Given the description of an element on the screen output the (x, y) to click on. 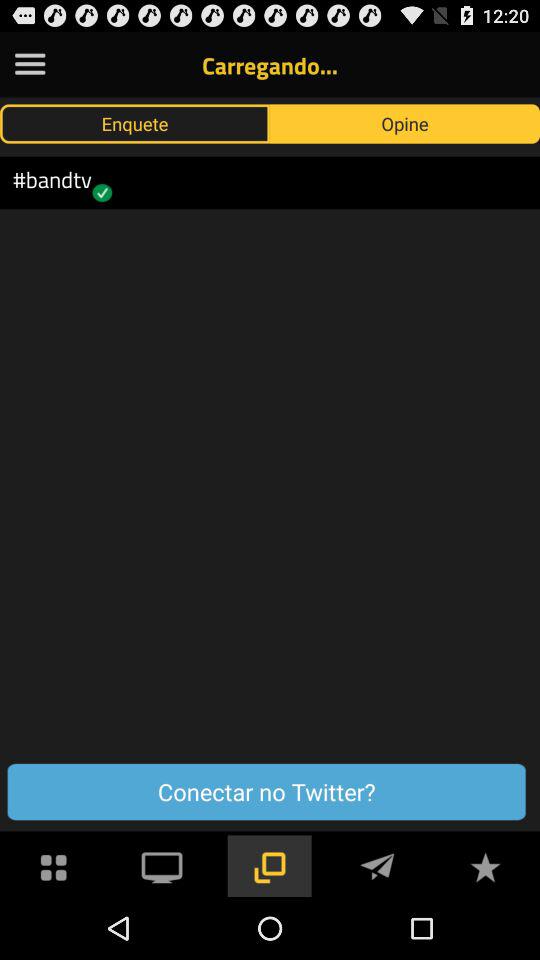
send button (377, 865)
